Given the description of an element on the screen output the (x, y) to click on. 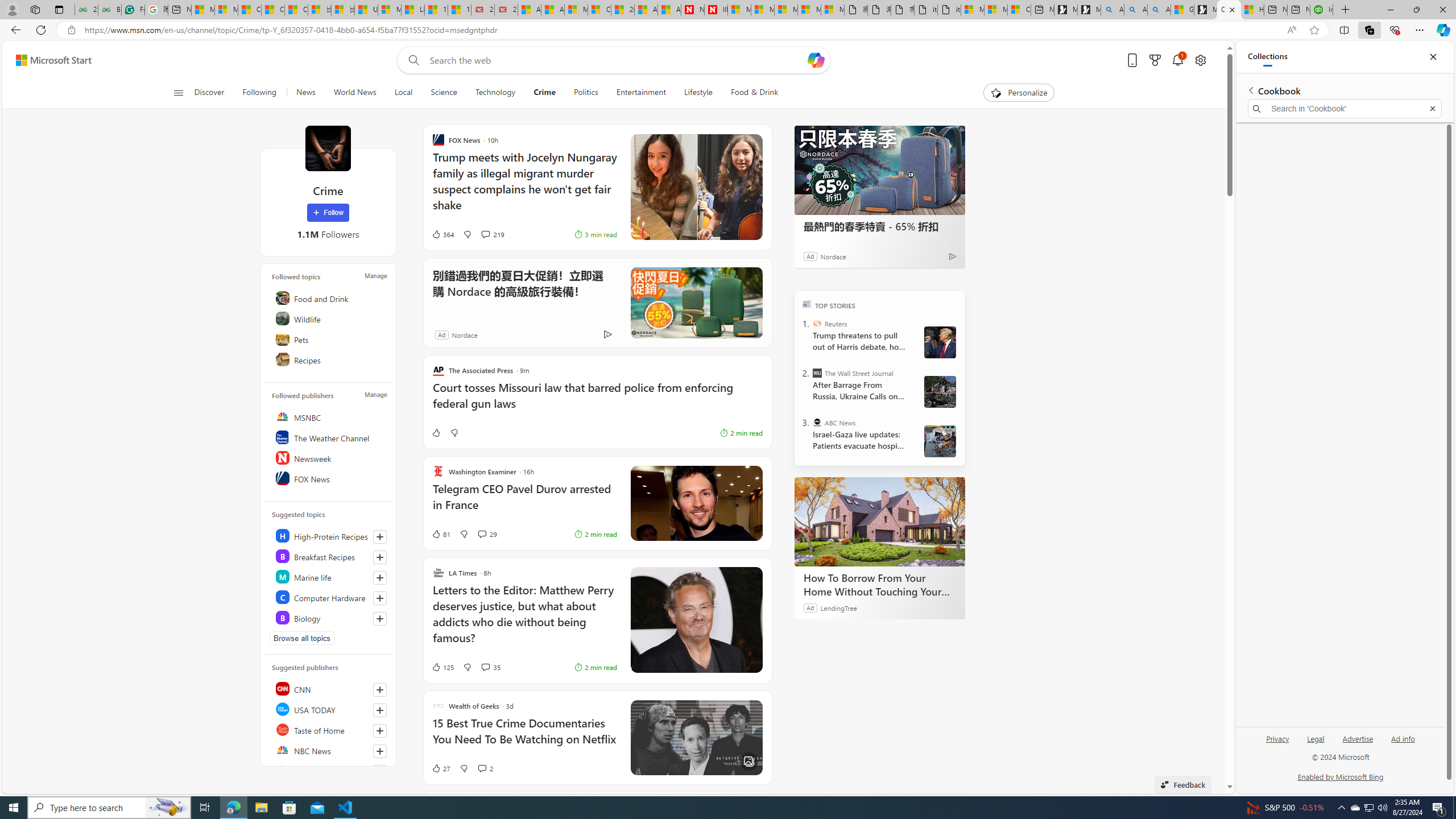
Reuters (816, 323)
View comments 219 Comment (485, 234)
ABC News (816, 422)
Crime - MSN (1228, 9)
